Given the description of an element on the screen output the (x, y) to click on. 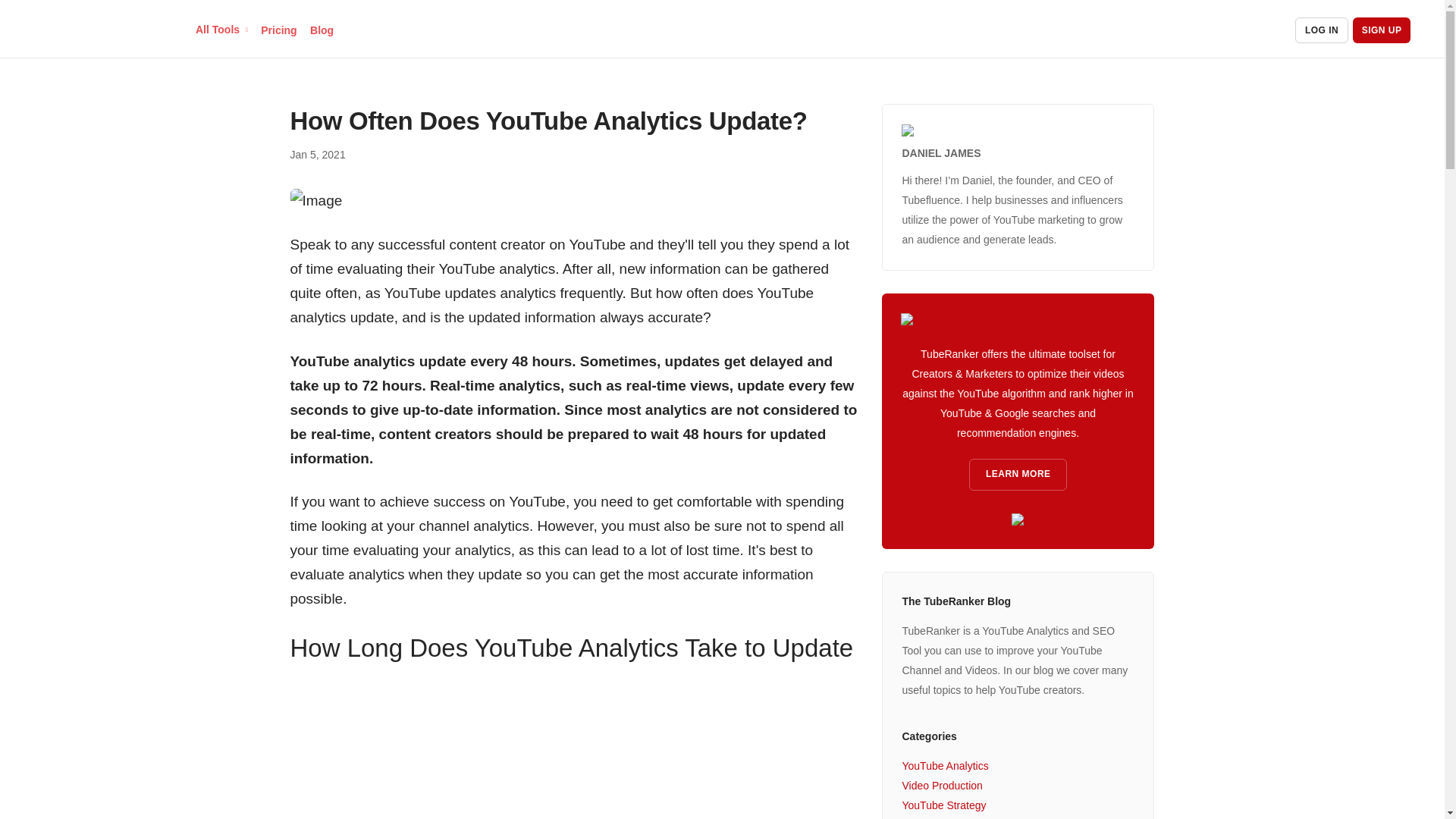
Pricing (278, 30)
Video Production (941, 785)
YouTube Strategy (943, 805)
YouTube Analytics (944, 766)
SIGN UP (1381, 30)
LEARN MORE (1018, 474)
Blog (321, 30)
LOG IN (1321, 30)
